Given the description of an element on the screen output the (x, y) to click on. 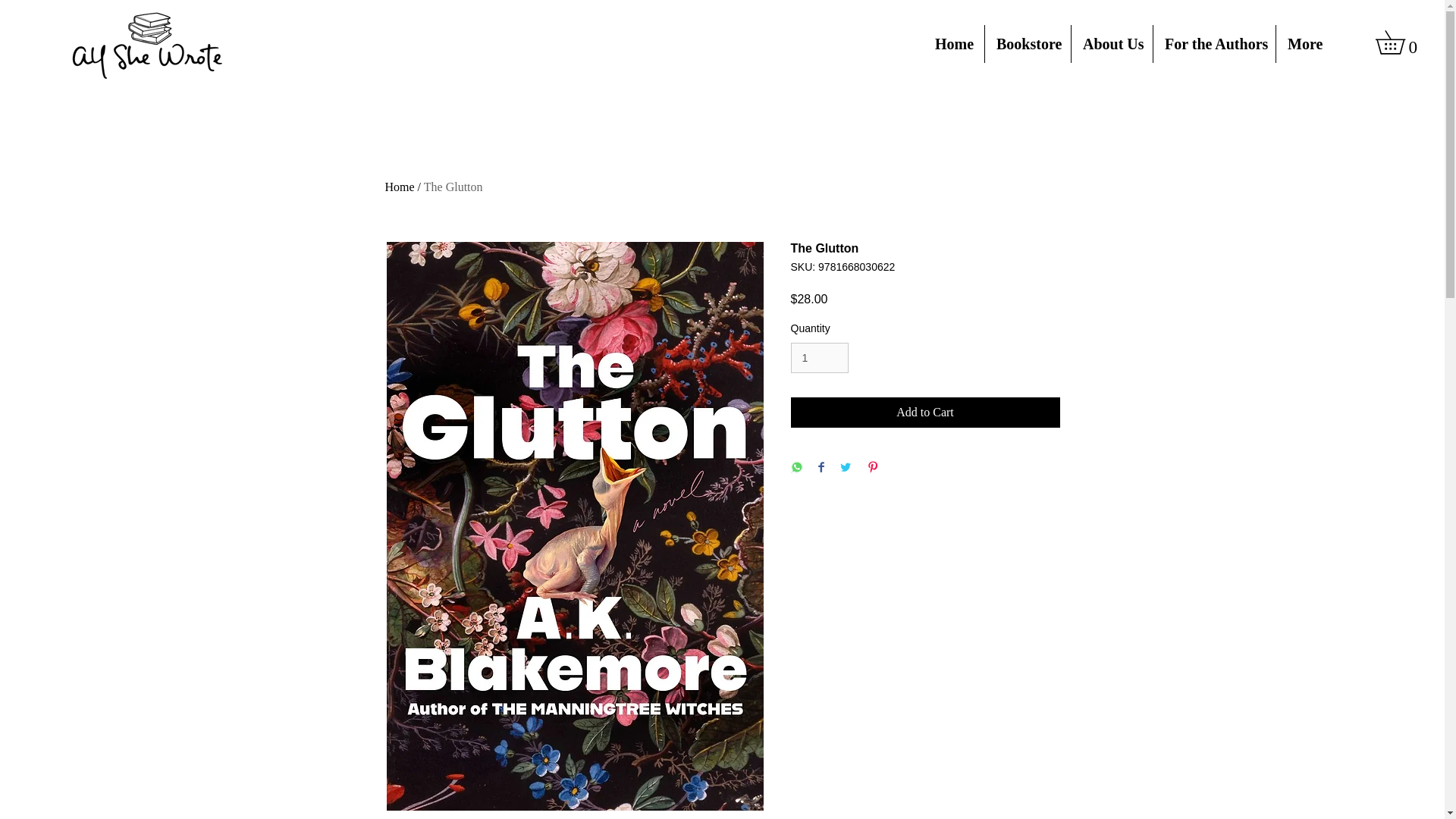
0 (1401, 42)
0 (1401, 42)
Home (953, 44)
1 (818, 358)
Home (399, 186)
About Us (1112, 44)
Bookstore (1027, 44)
Add to Cart (924, 412)
For the Authors (1214, 44)
The Glutton (453, 186)
